Given the description of an element on the screen output the (x, y) to click on. 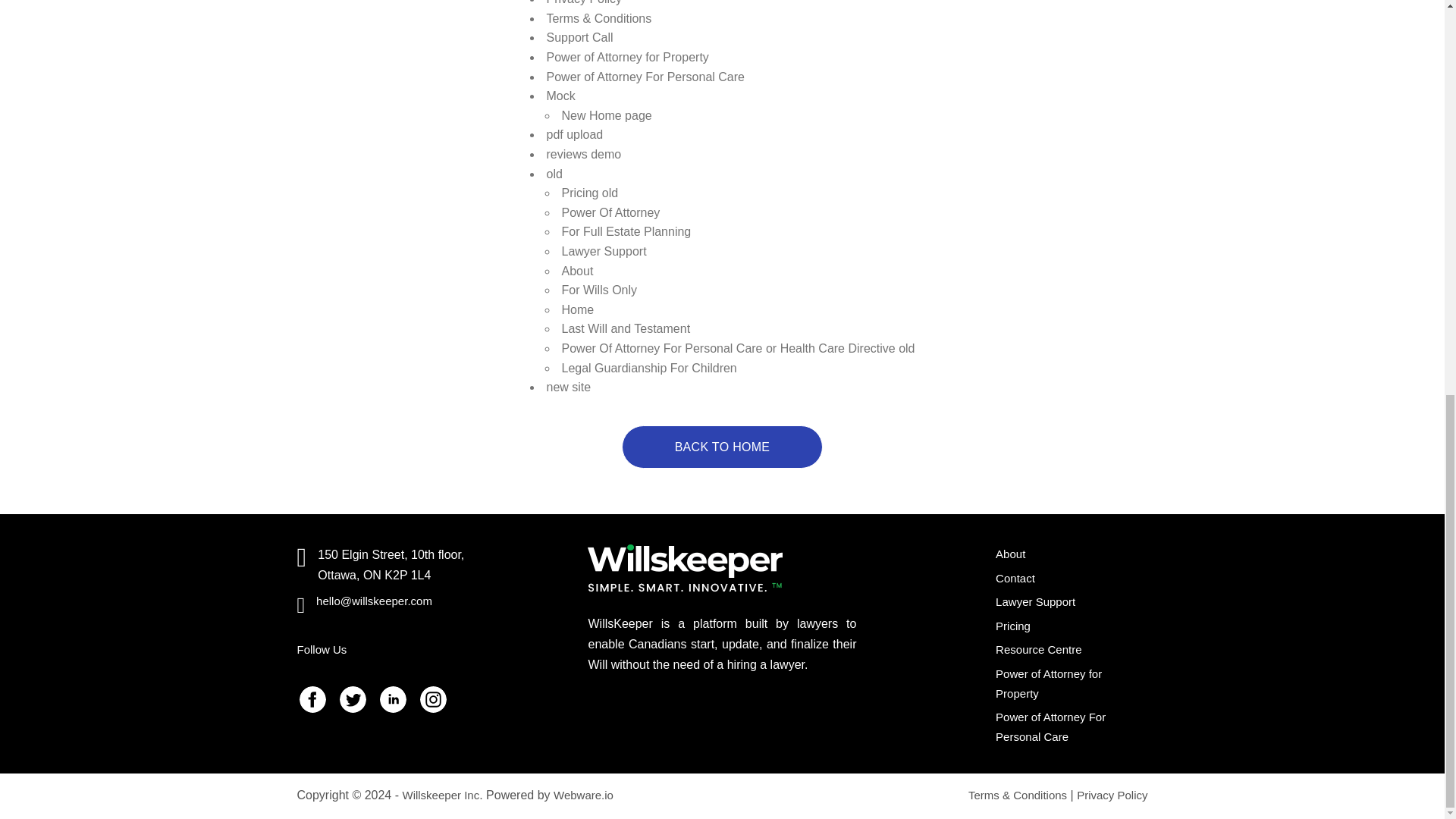
Privacy Policy (585, 2)
Support Call (579, 37)
Power of Attorney for Property (628, 56)
